Given the description of an element on the screen output the (x, y) to click on. 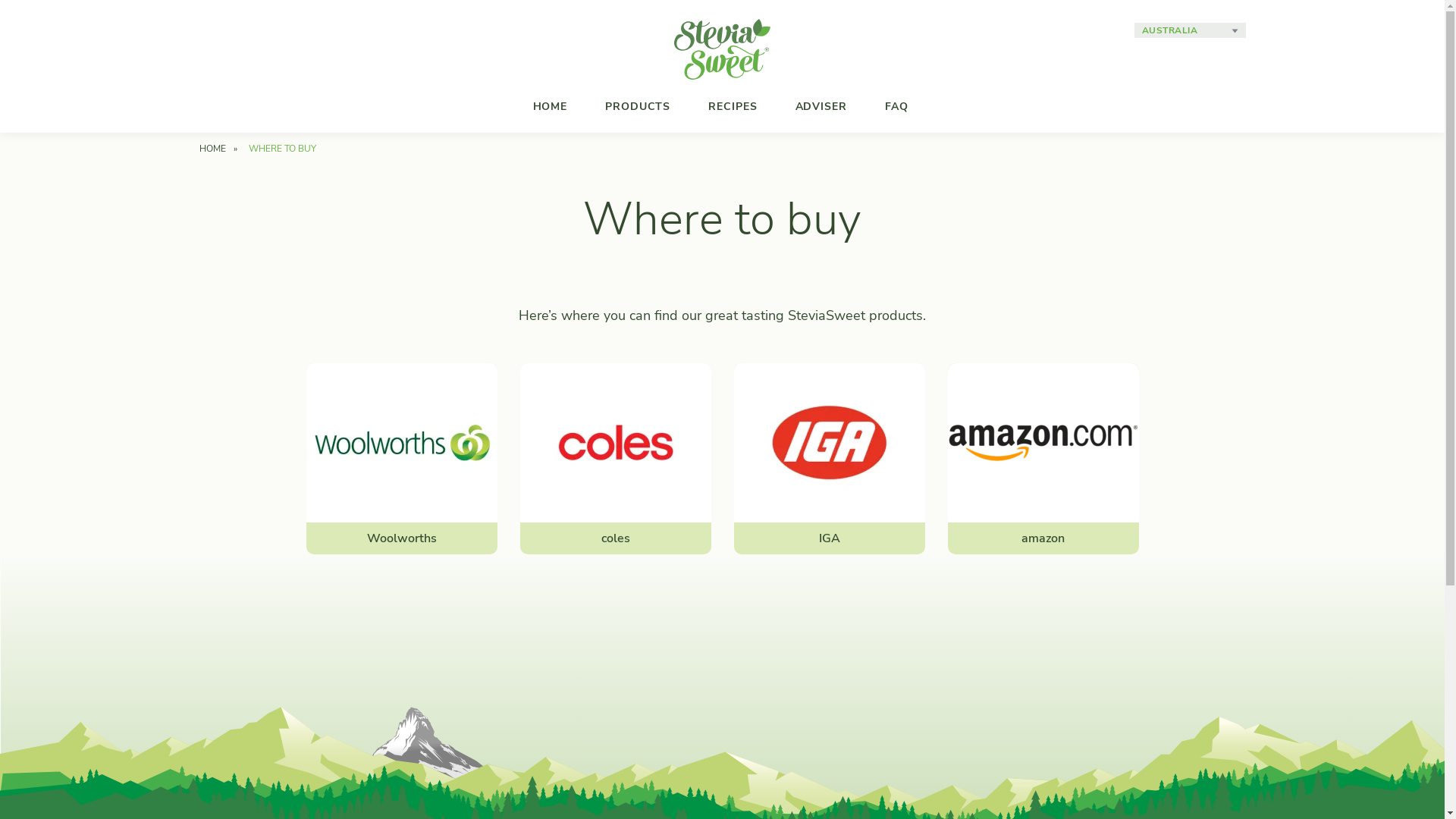
HOME Element type: text (550, 106)
PRODUCTS Element type: text (637, 106)
IGA Element type: text (829, 458)
RECIPES Element type: text (732, 106)
Woolworths Element type: text (401, 458)
FAQ Element type: text (896, 106)
amazon Element type: text (1043, 458)
HOME Element type: text (211, 148)
ADVISER Element type: text (820, 106)
coles Element type: text (615, 458)
